Given the description of an element on the screen output the (x, y) to click on. 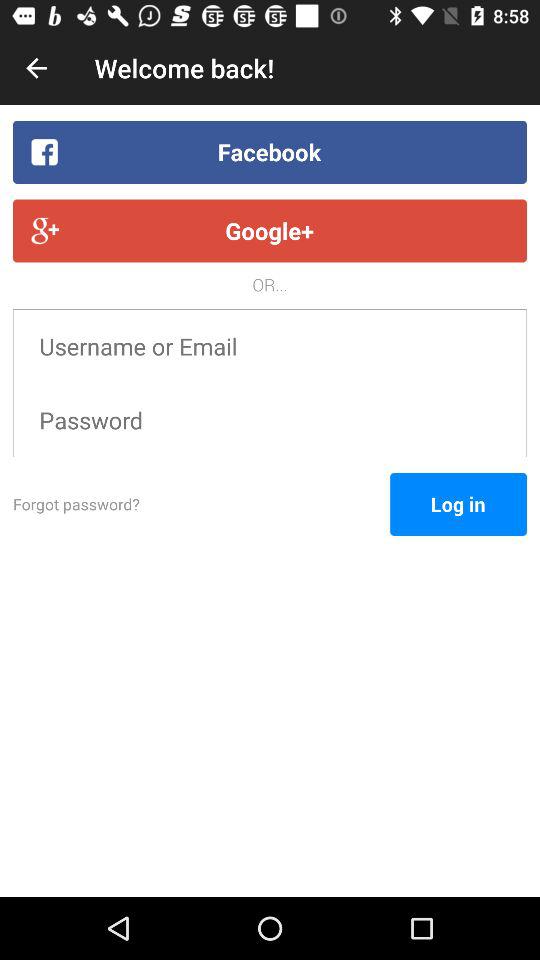
press the item next to the welcome back! icon (36, 68)
